Given the description of an element on the screen output the (x, y) to click on. 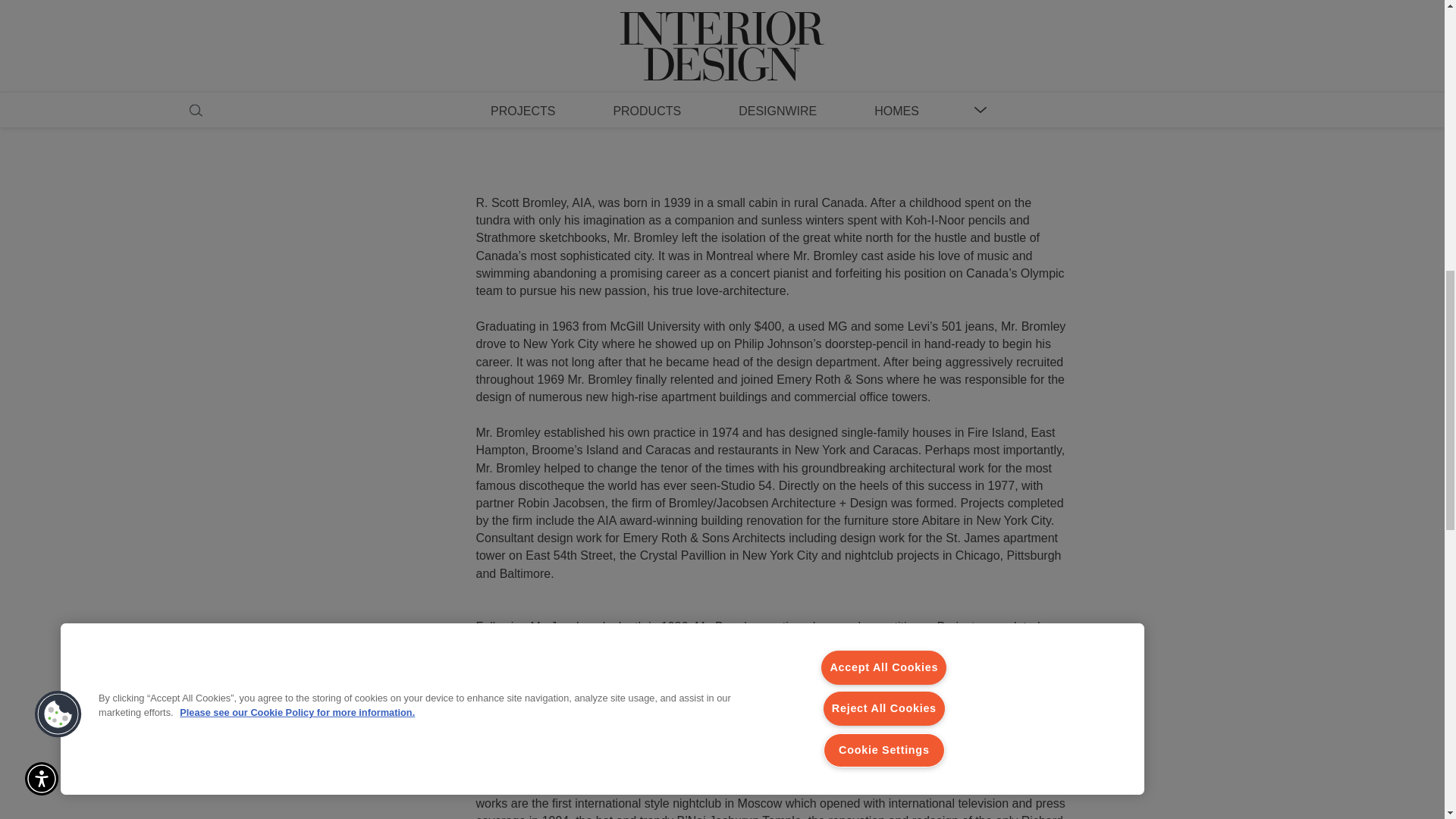
Bromley Caldari Architects PC (557, 758)
Bromley Caldari Architects PC (557, 758)
Scott Bromley idx120901 Ohny16 (626, 61)
